Given the description of an element on the screen output the (x, y) to click on. 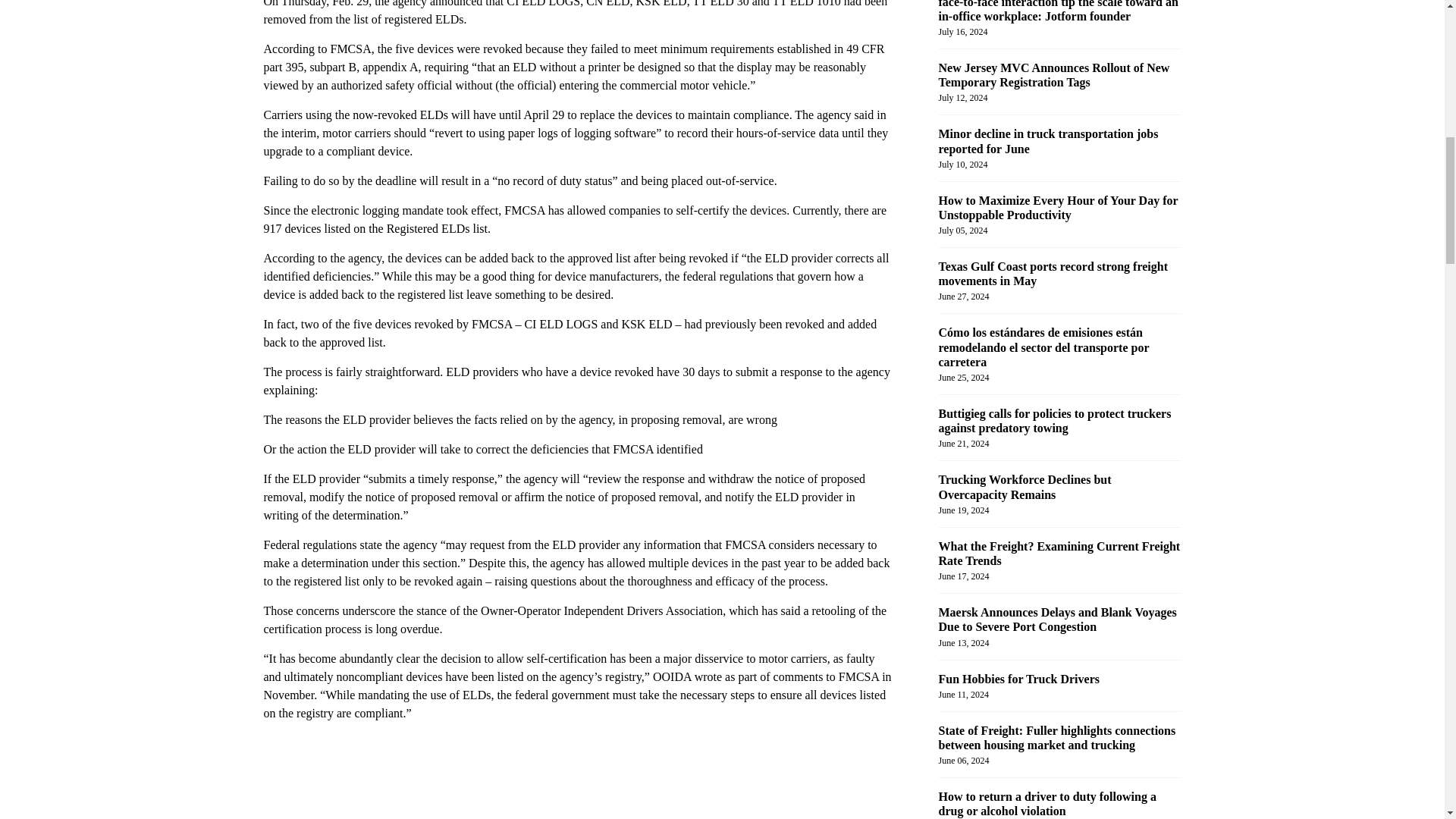
What the Freight? Examining Current Freight Rate Trends (1059, 553)
Minor decline in truck transportation jobs reported for June (1048, 140)
Trucking Workforce Declines but Overcapacity Remains (1025, 486)
